Given the description of an element on the screen output the (x, y) to click on. 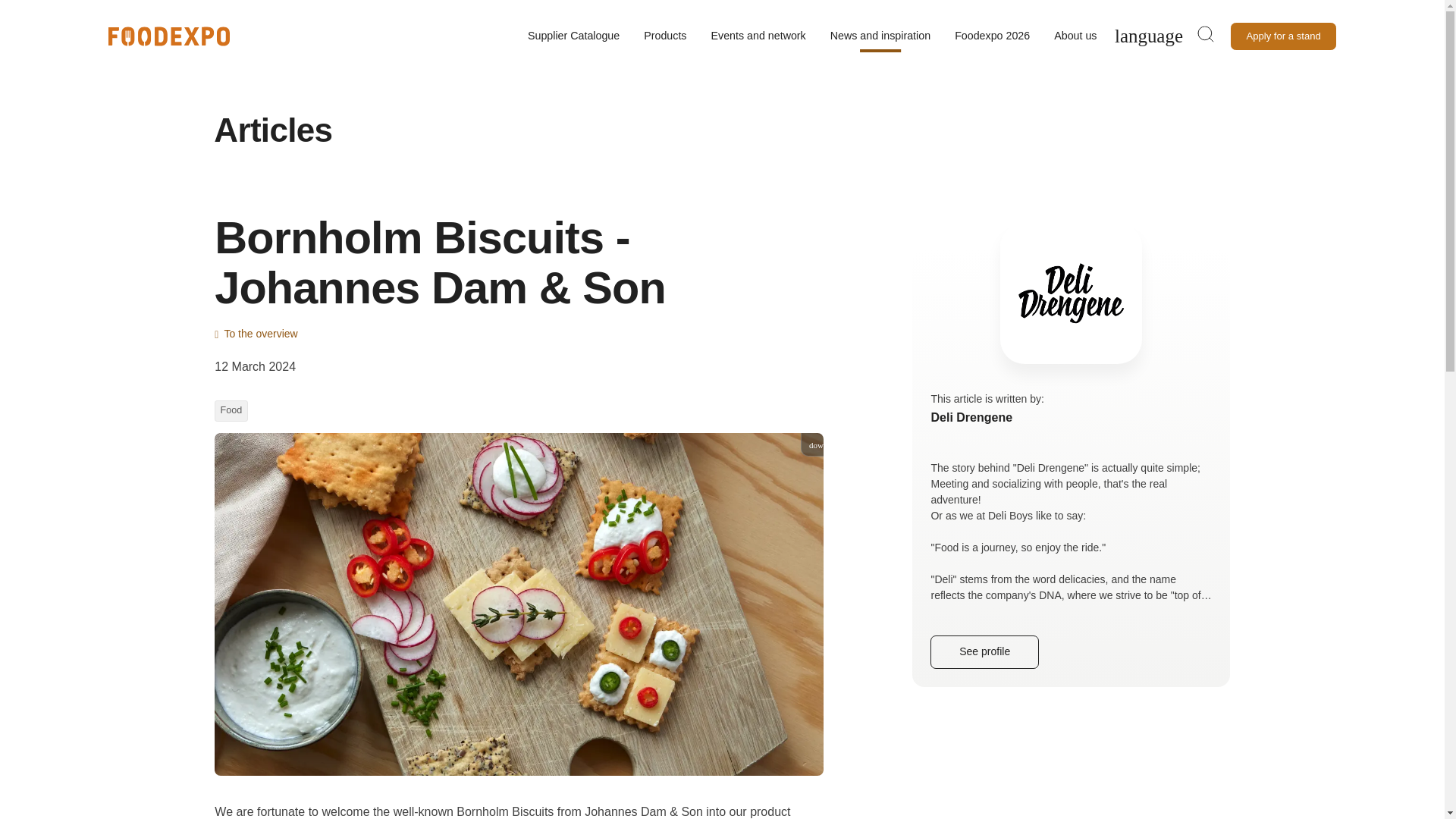
language (1148, 35)
News and inspiration (880, 35)
Home (128, 9)
Supplier Catalogue (573, 35)
Foodexpo 2026 (992, 35)
Food (230, 410)
Apply for a stand (1283, 35)
About us (1075, 35)
To the overview (519, 333)
download (865, 444)
See profile (984, 652)
Products (664, 35)
News and inspiration (197, 9)
Events and network (758, 35)
